Given the description of an element on the screen output the (x, y) to click on. 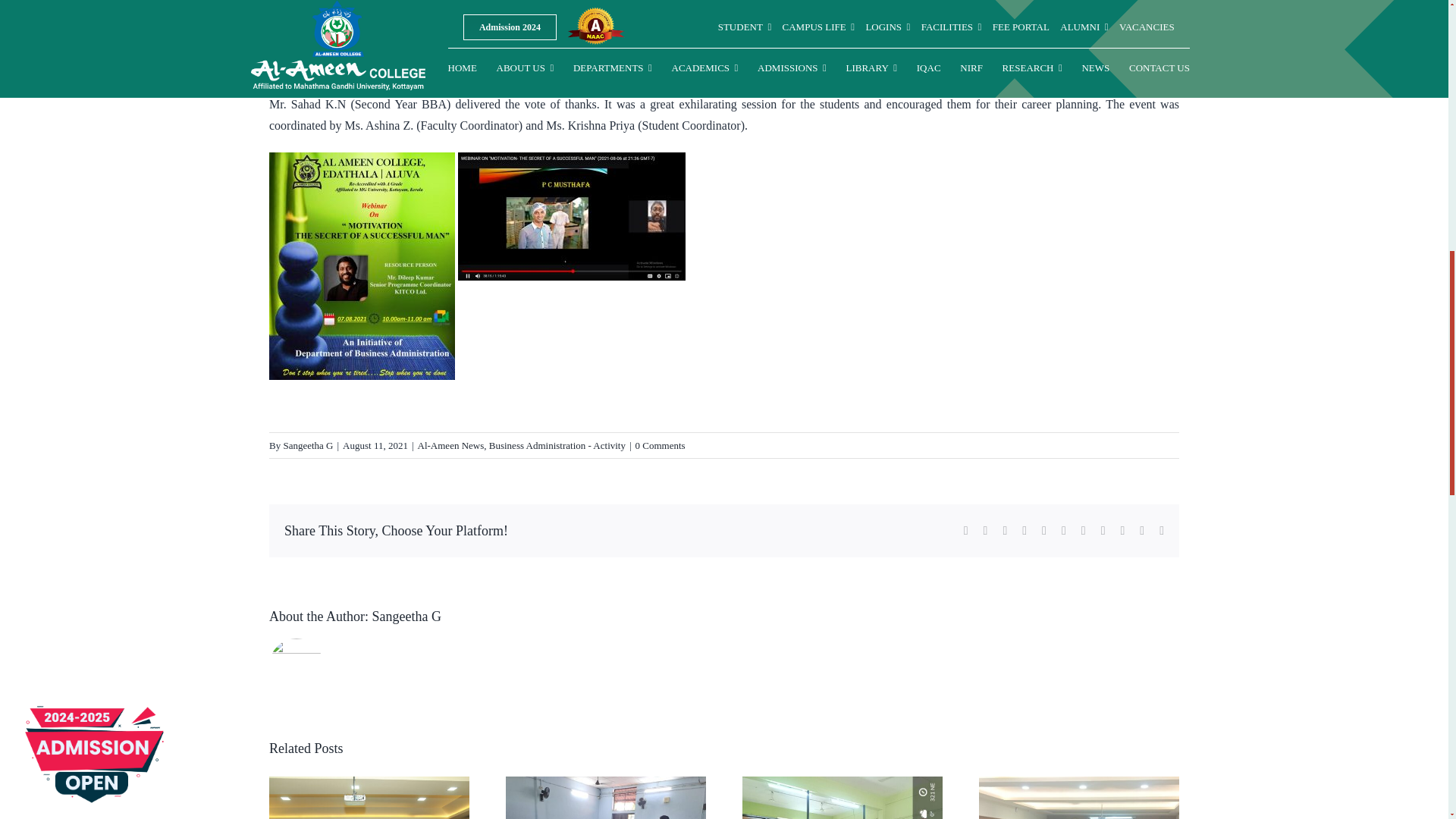
Posts by Sangeetha G (307, 445)
Posts by Sangeetha G (406, 616)
